Given the description of an element on the screen output the (x, y) to click on. 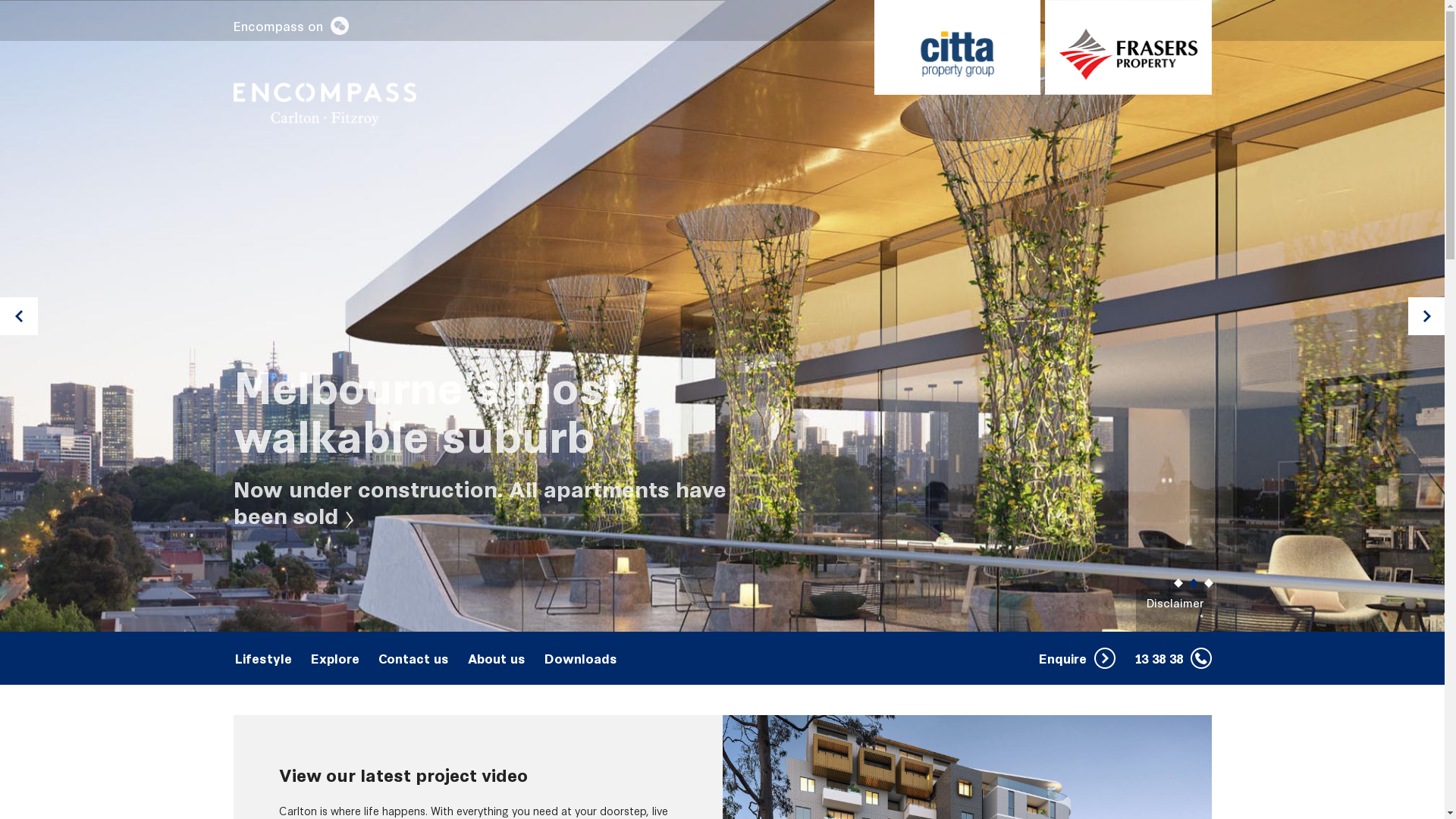
Previous Element type: text (18, 316)
About us Element type: text (497, 657)
Enquire Element type: text (1076, 657)
2 Element type: text (1193, 578)
Now under construction. All apartments have been sold Element type: text (479, 500)
Disclaimer * Element type: text (1173, 610)
Live at the centre of everything Element type: text (452, 408)
Contact us Element type: text (414, 657)
Downloads Element type: text (580, 657)
1 Element type: text (1178, 578)
Explore Element type: text (336, 657)
Lifestyle Element type: text (265, 657)
3 Element type: text (1208, 578)
Next Element type: text (1427, 316)
13 38 38 Element type: text (1172, 657)
